Given the description of an element on the screen output the (x, y) to click on. 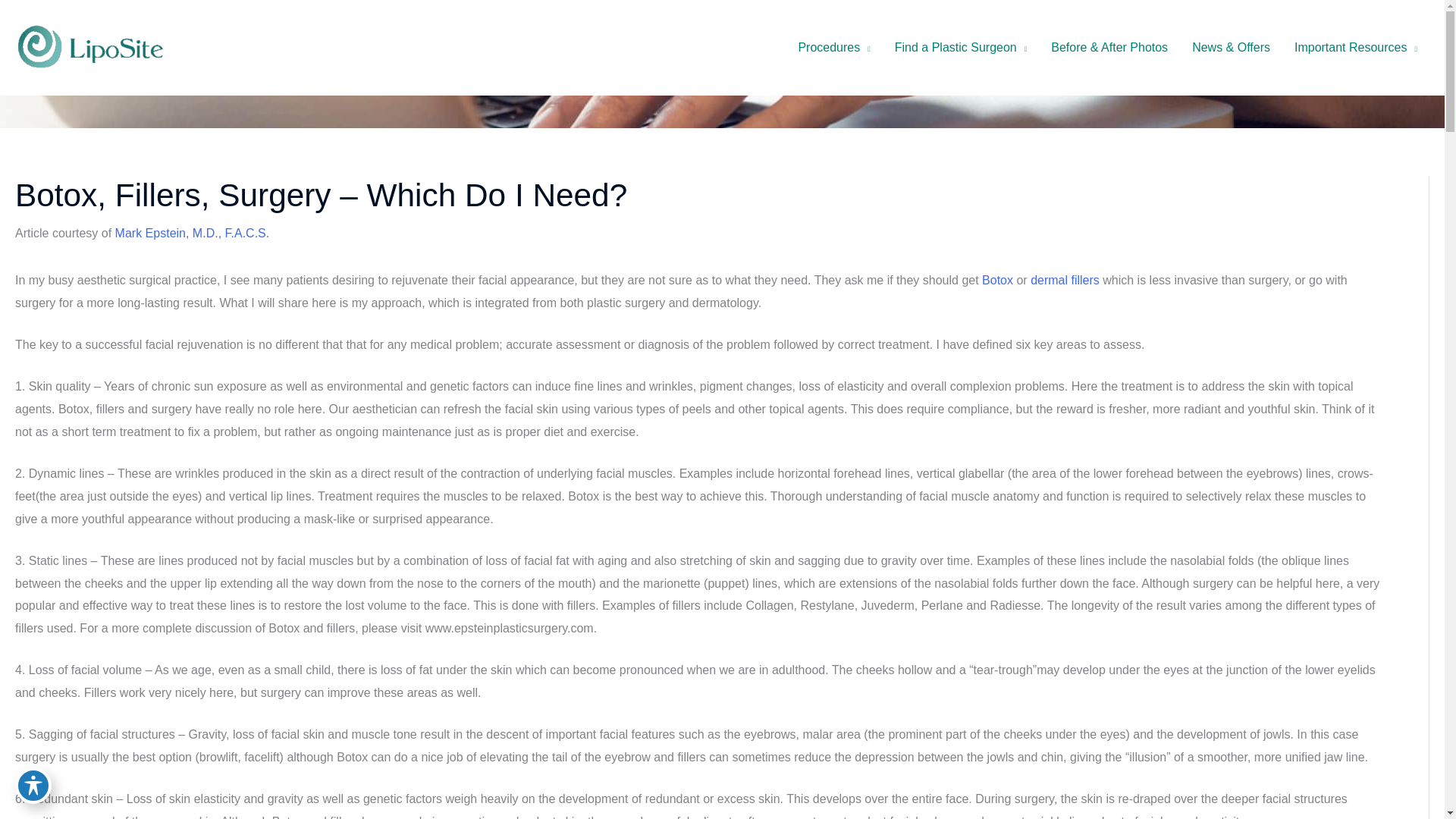
Mark Epstein, M.D., F.A.C.S. (192, 232)
Find a Plastic Surgeon (960, 47)
Botox (997, 279)
Important Resources (1355, 47)
Procedures (834, 47)
dermal fillers (1064, 279)
